Given the description of an element on the screen output the (x, y) to click on. 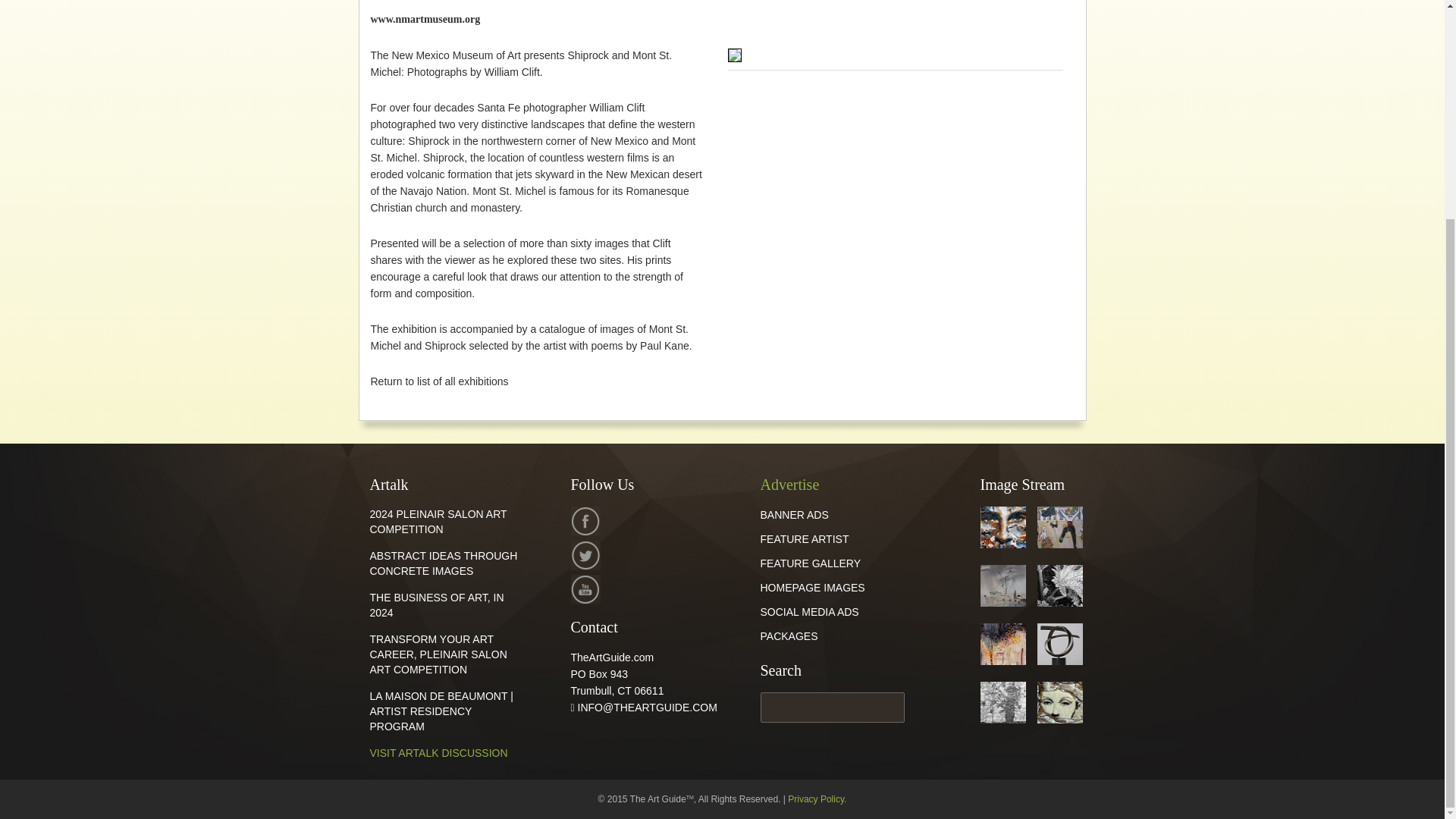
PACKAGES (788, 635)
FEATURE ARTIST (804, 539)
SOCIAL MEDIA ADS (809, 612)
THE BUSINESS OF ART, IN 2024 (436, 605)
BANNER ADS (794, 514)
VISIT ARTALK DISCUSSION (438, 752)
ABSTRACT IDEAS THROUGH CONCRETE IMAGES (443, 563)
www.nmartmuseum.org (424, 19)
FEATURE GALLERY (810, 563)
TRANSFORM YOUR ART CAREER, PLEINAIR SALON ART COMPETITION (437, 654)
HOMEPAGE IMAGES (812, 587)
Return to list of all exhibitions (438, 381)
2024 PLEINAIR SALON ART COMPETITION (437, 521)
